Given the description of an element on the screen output the (x, y) to click on. 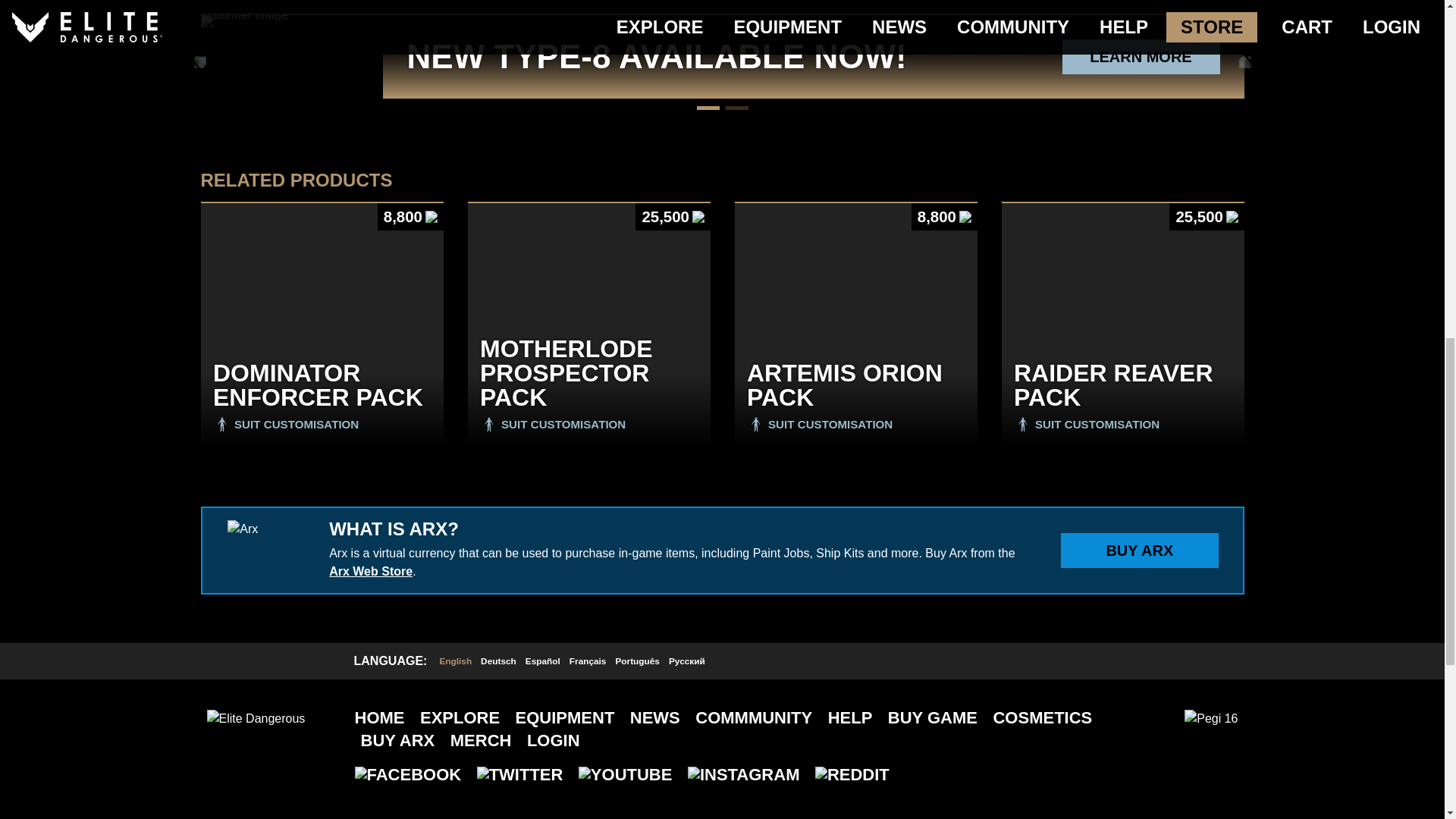
Social Youtube (625, 773)
Social Facebook (408, 773)
Social Instagram (743, 773)
LEARN MORE (1140, 56)
Social Twitter (520, 773)
Social Reddit (852, 773)
